Given the description of an element on the screen output the (x, y) to click on. 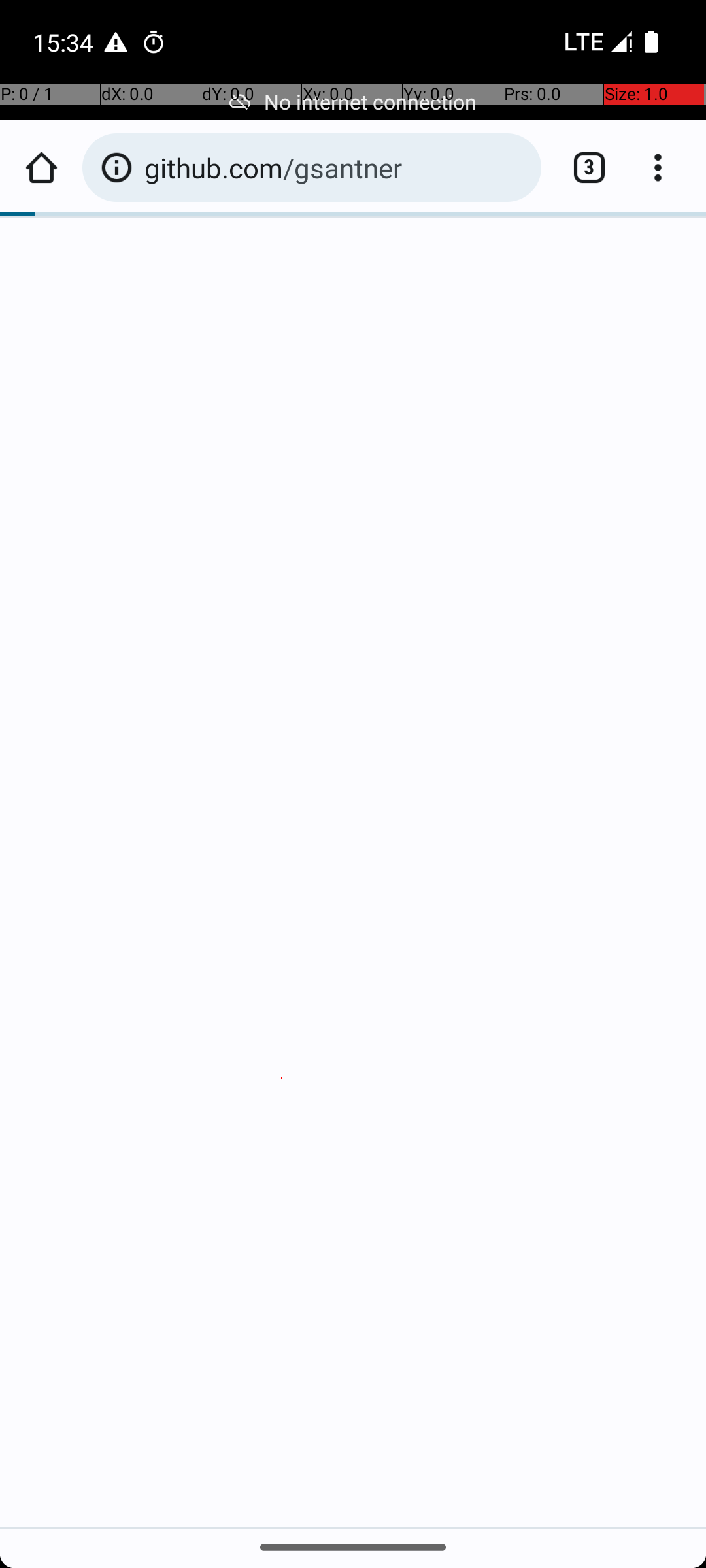
No internet connection Element type: android.widget.TextView (352, 101)
github.com/gsantner Element type: android.widget.EditText (335, 167)
Switch or close tabs Element type: android.widget.ImageButton (582, 167)
